Given the description of an element on the screen output the (x, y) to click on. 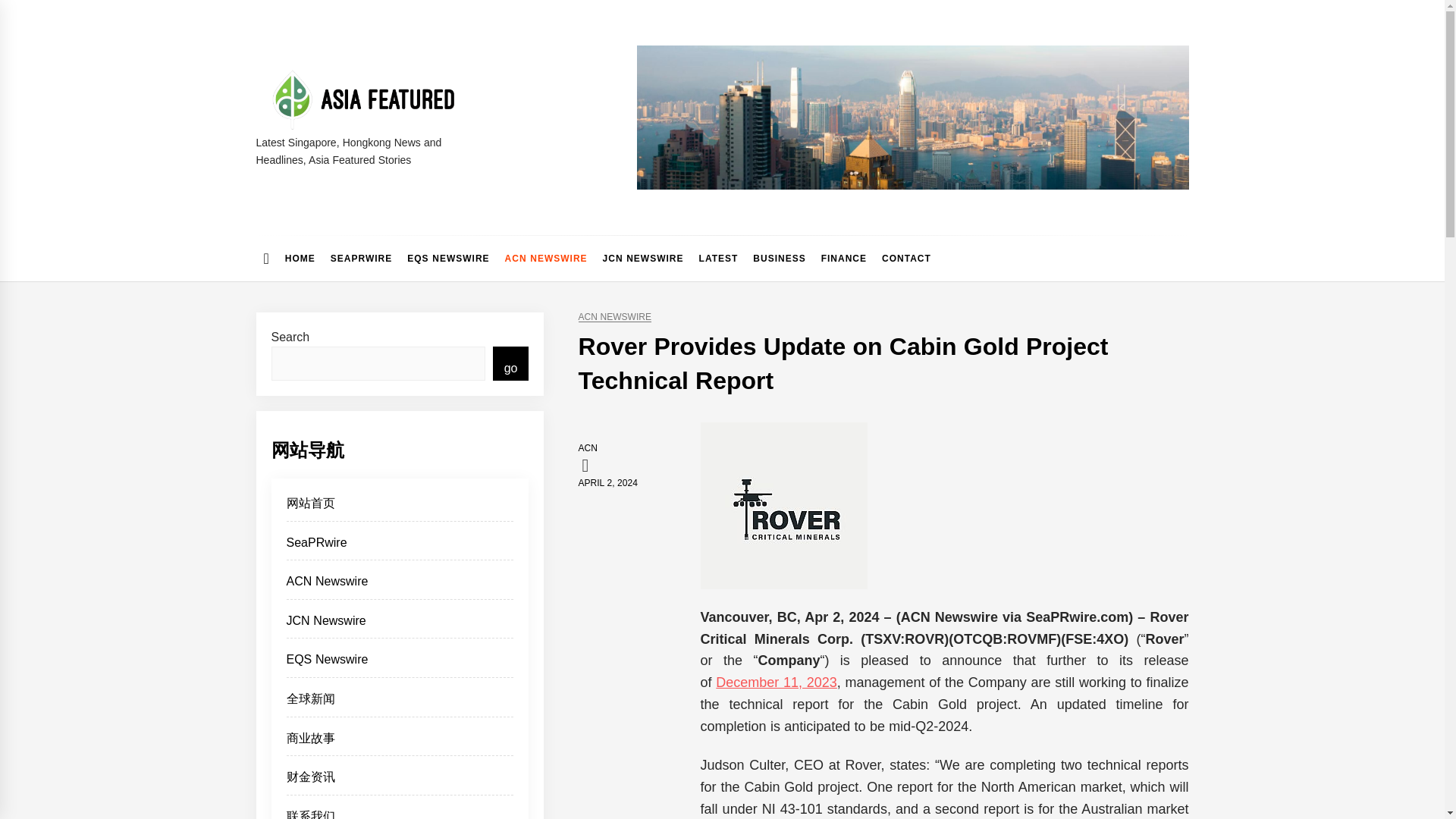
SeaPRwire (399, 547)
BUSINESS (778, 258)
ACN (587, 448)
ACN NEWSWIRE (614, 317)
JCN Newswire (399, 624)
CONTACT (907, 258)
December 11, 2023 (776, 682)
JCN NEWSWIRE (643, 258)
go (511, 363)
SEAPRWIRE (360, 258)
FINANCE (844, 258)
LATEST (718, 258)
ACN Newswire (399, 585)
Header Advertise (913, 117)
HOME (300, 258)
